Given the description of an element on the screen output the (x, y) to click on. 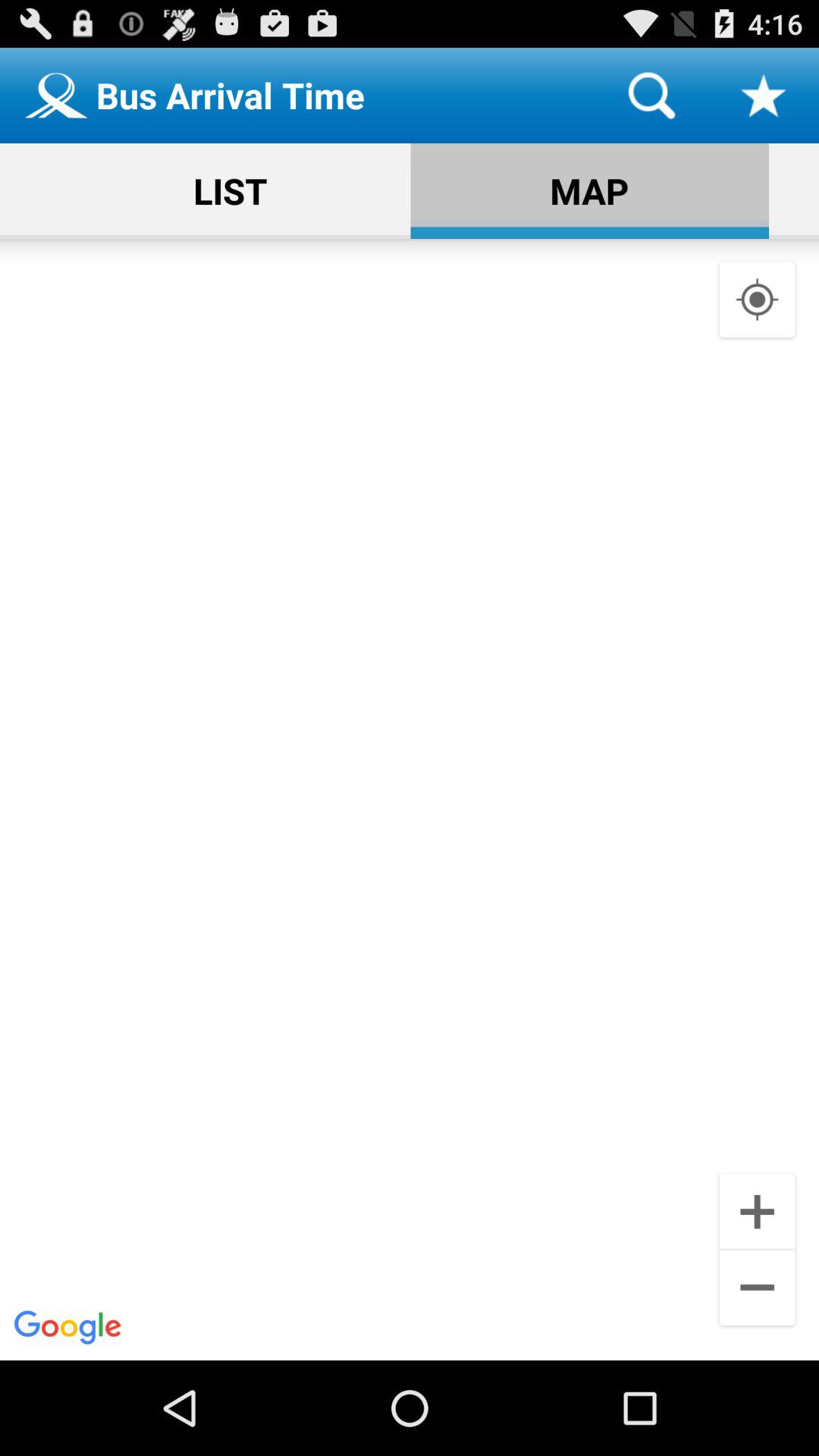
open icon above the map app (651, 95)
